Given the description of an element on the screen output the (x, y) to click on. 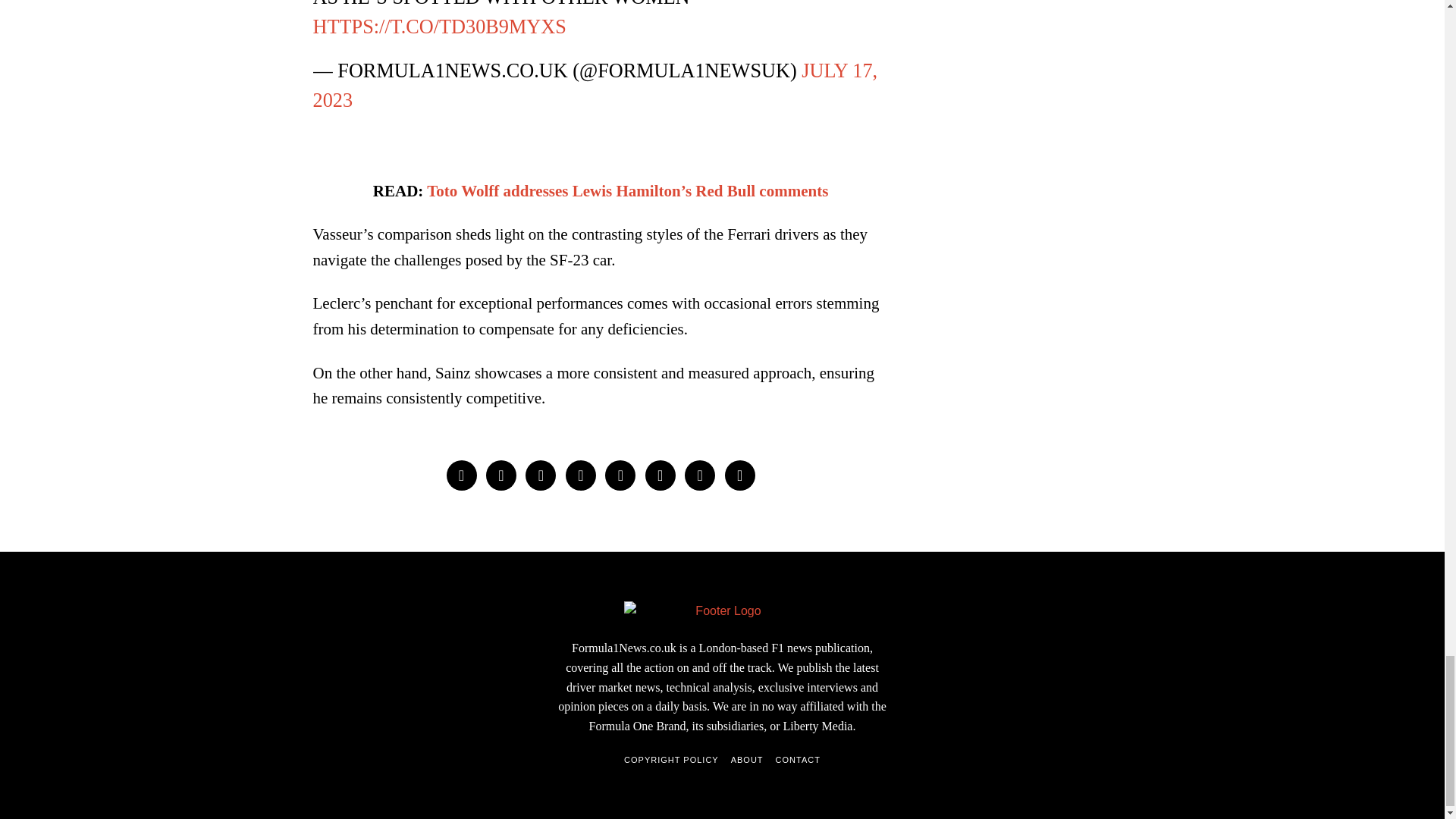
CONTACT (798, 759)
Facebook (460, 475)
Messenger (501, 475)
COPYRIGHT POLICY (671, 759)
ABOUT (746, 759)
JULY 17, 2023 (595, 85)
Linkedin (619, 475)
Whatsapp (660, 475)
Pinterest (580, 475)
Reddit (699, 475)
